Given the description of an element on the screen output the (x, y) to click on. 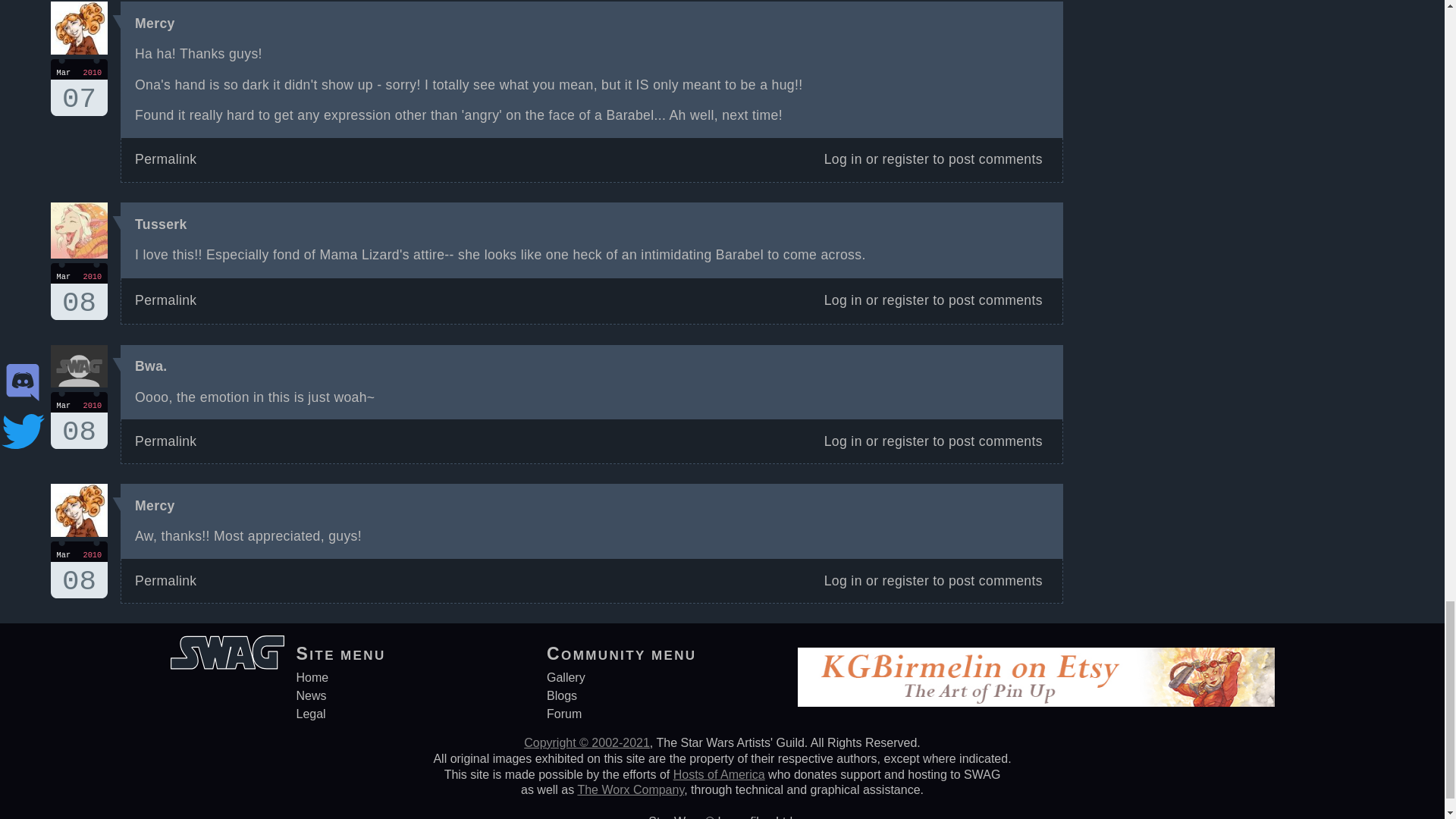
View user profile. (78, 420)
View user profile. (78, 569)
View user profile. (151, 365)
View user profile. (154, 23)
